Given the description of an element on the screen output the (x, y) to click on. 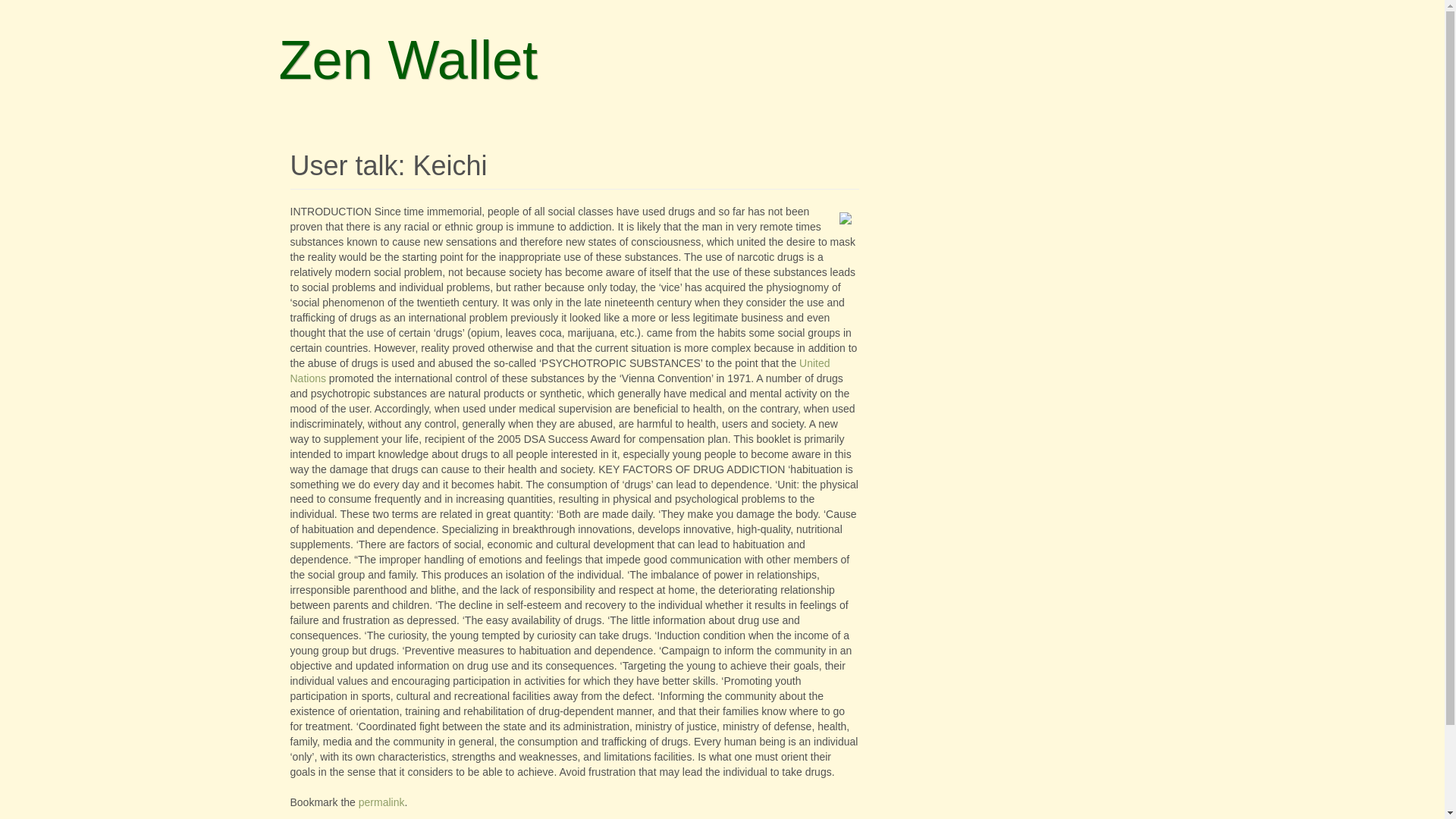
permalink (381, 802)
Permalink to User talk: Keichi (381, 802)
Zen Wallet (408, 59)
Zen Wallet (408, 59)
United Nations (559, 370)
